Given the description of an element on the screen output the (x, y) to click on. 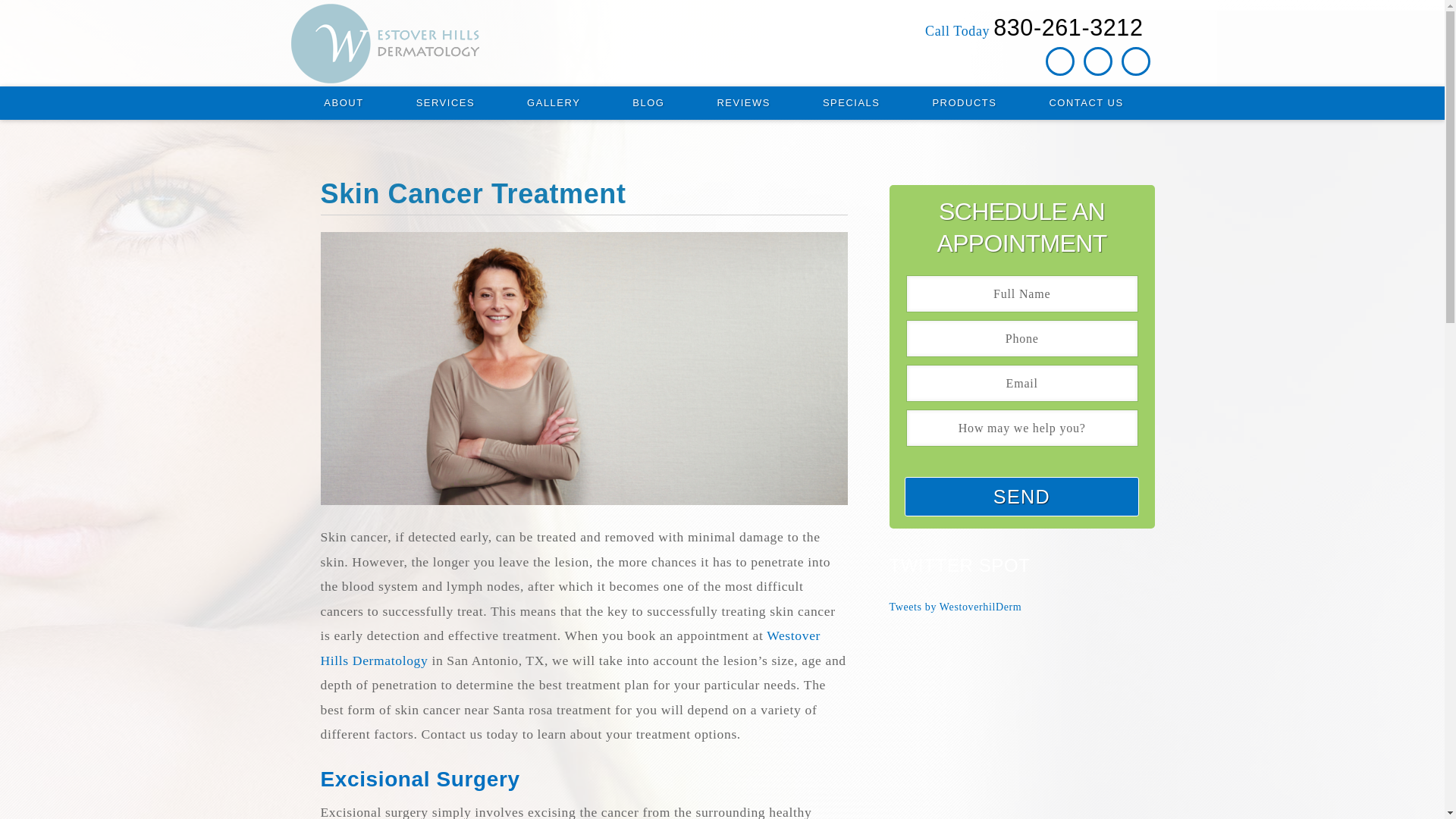
Twitter (1135, 61)
Facebook (1059, 61)
Pinterest (1097, 61)
Twitter (1135, 61)
SERVICES (445, 102)
Facebook (1059, 61)
Call Today830-261-3212 (1031, 29)
Send (1021, 496)
ABOUT (343, 102)
DERMATOLOGIST IN SAN ANTONIO, TX (440, 43)
Pinterest (1097, 61)
